Given the description of an element on the screen output the (x, y) to click on. 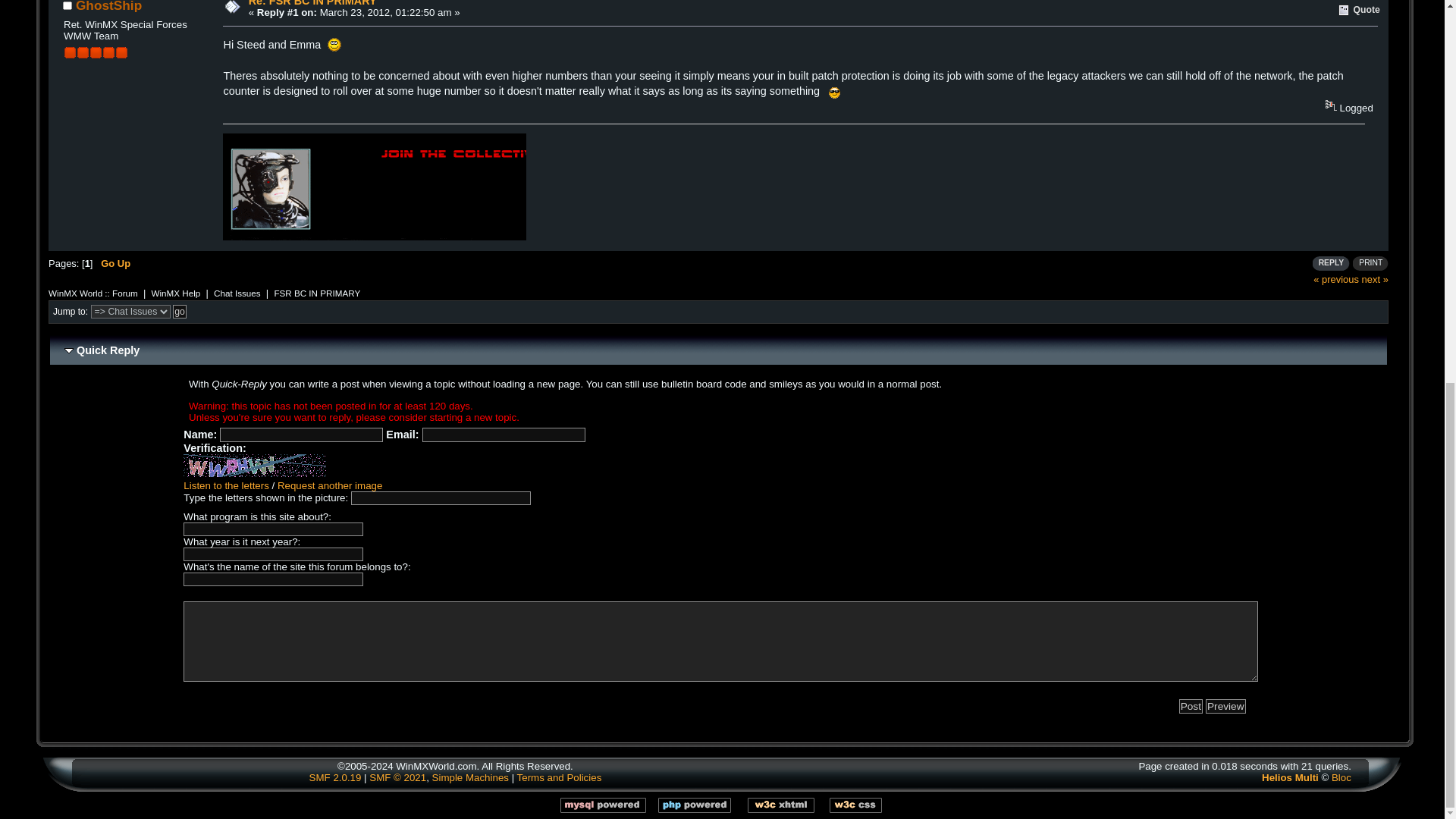
Post (1190, 706)
Quote (1359, 10)
Re: FSR BC IN PRIMARY (312, 3)
Cool (834, 92)
Simple Machines (470, 777)
License (397, 777)
Preview (1225, 706)
Smile (334, 44)
GhostShip (108, 6)
View the profile of GhostShip (108, 6)
go (179, 311)
Simple Machines Forum (334, 777)
